Given the description of an element on the screen output the (x, y) to click on. 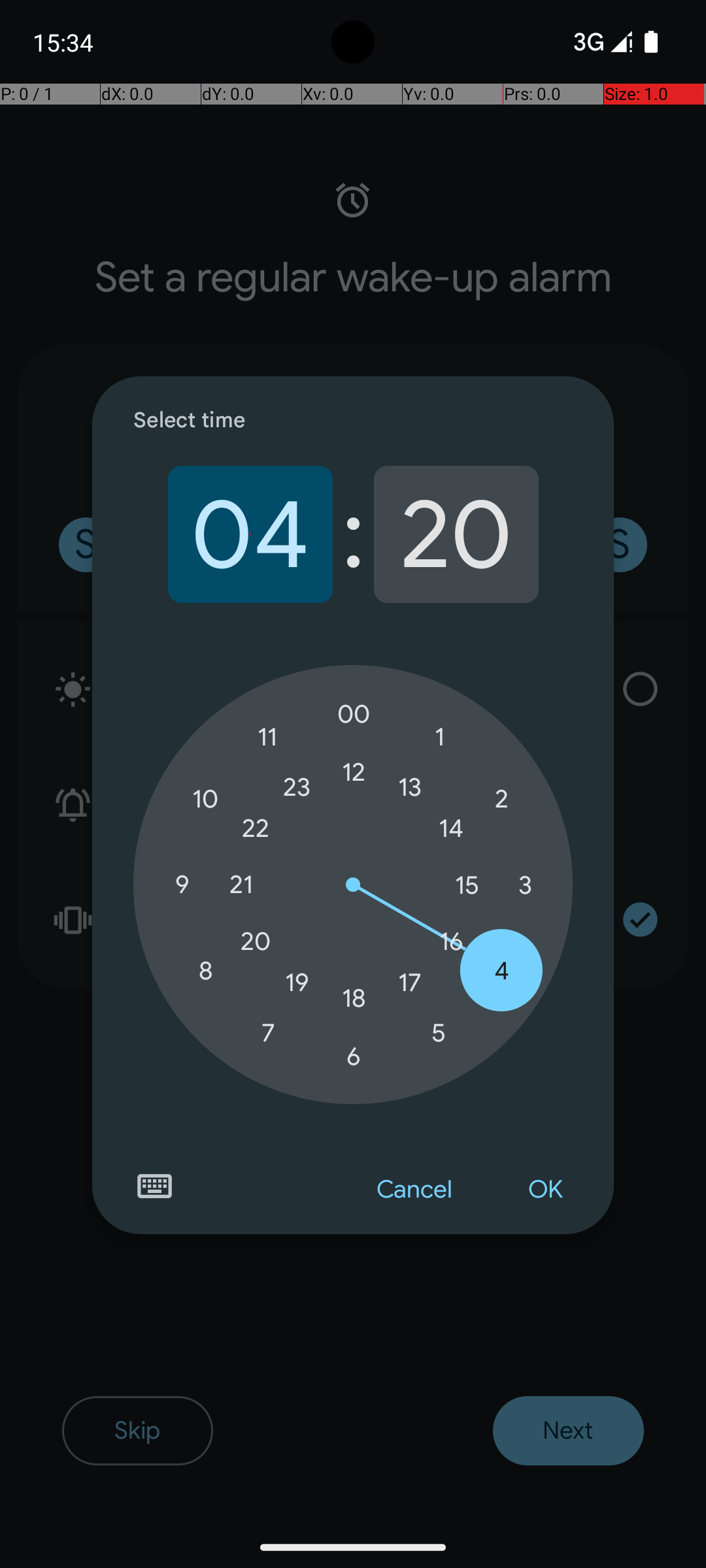
04 Element type: android.view.View (250, 534)
Switch to text input mode for the time input. Element type: android.widget.Button (154, 1186)
11 Element type: android.widget.TextView (267, 736)
23 Element type: android.widget.TextView (296, 787)
12 Element type: android.widget.TextView (353, 772)
13 Element type: android.widget.TextView (409, 787)
21 Element type: android.widget.TextView (240, 884)
22 Element type: android.widget.TextView (255, 828)
14 Element type: android.widget.TextView (450, 828)
16 Element type: android.widget.TextView (450, 941)
19 Element type: android.widget.TextView (296, 982)
18 Element type: android.widget.TextView (353, 998)
17 Element type: android.widget.TextView (409, 982)
